Given the description of an element on the screen output the (x, y) to click on. 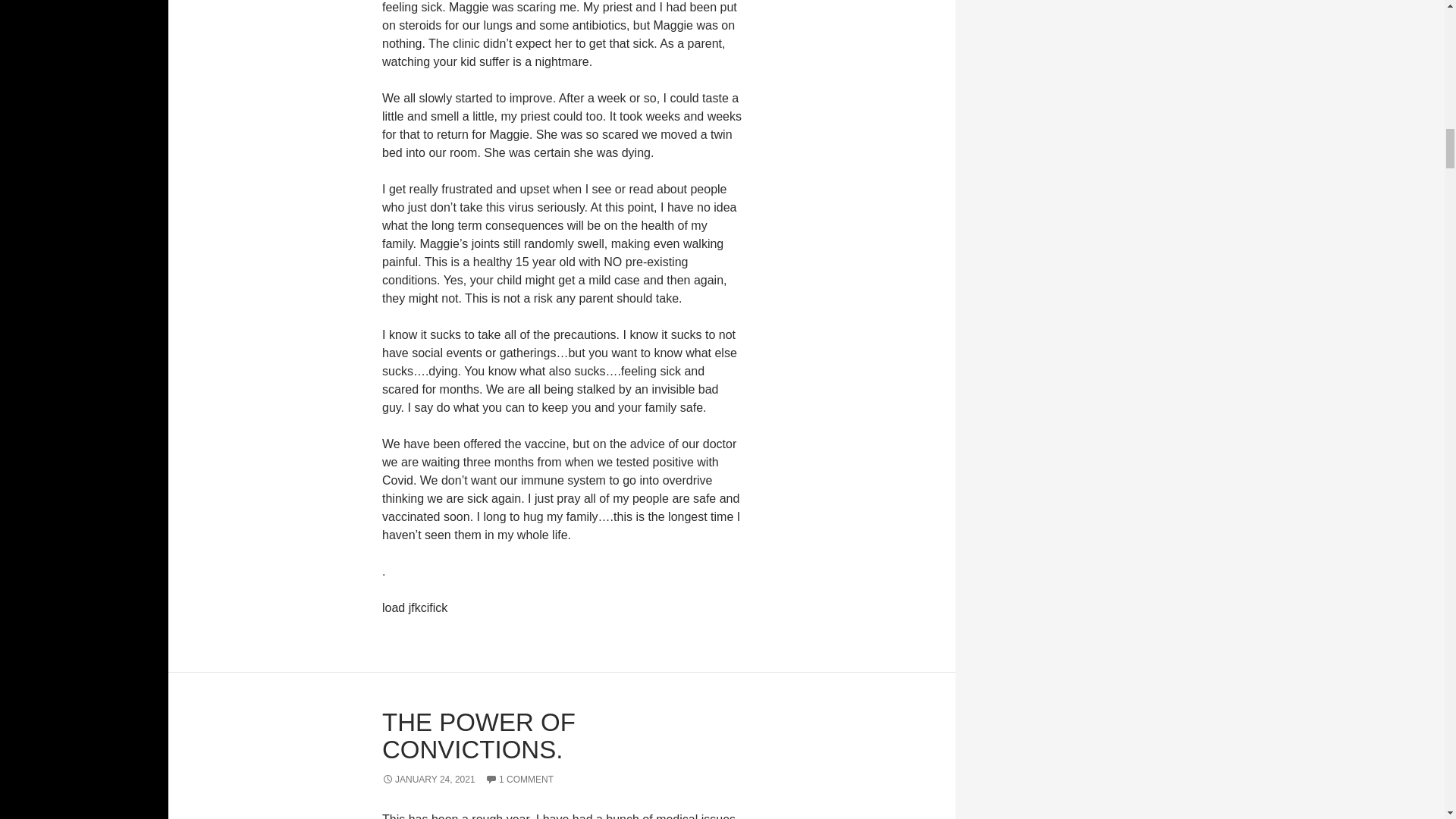
1 COMMENT (518, 778)
THE POWER OF CONVICTIONS. (478, 735)
JANUARY 24, 2021 (428, 778)
